Given the description of an element on the screen output the (x, y) to click on. 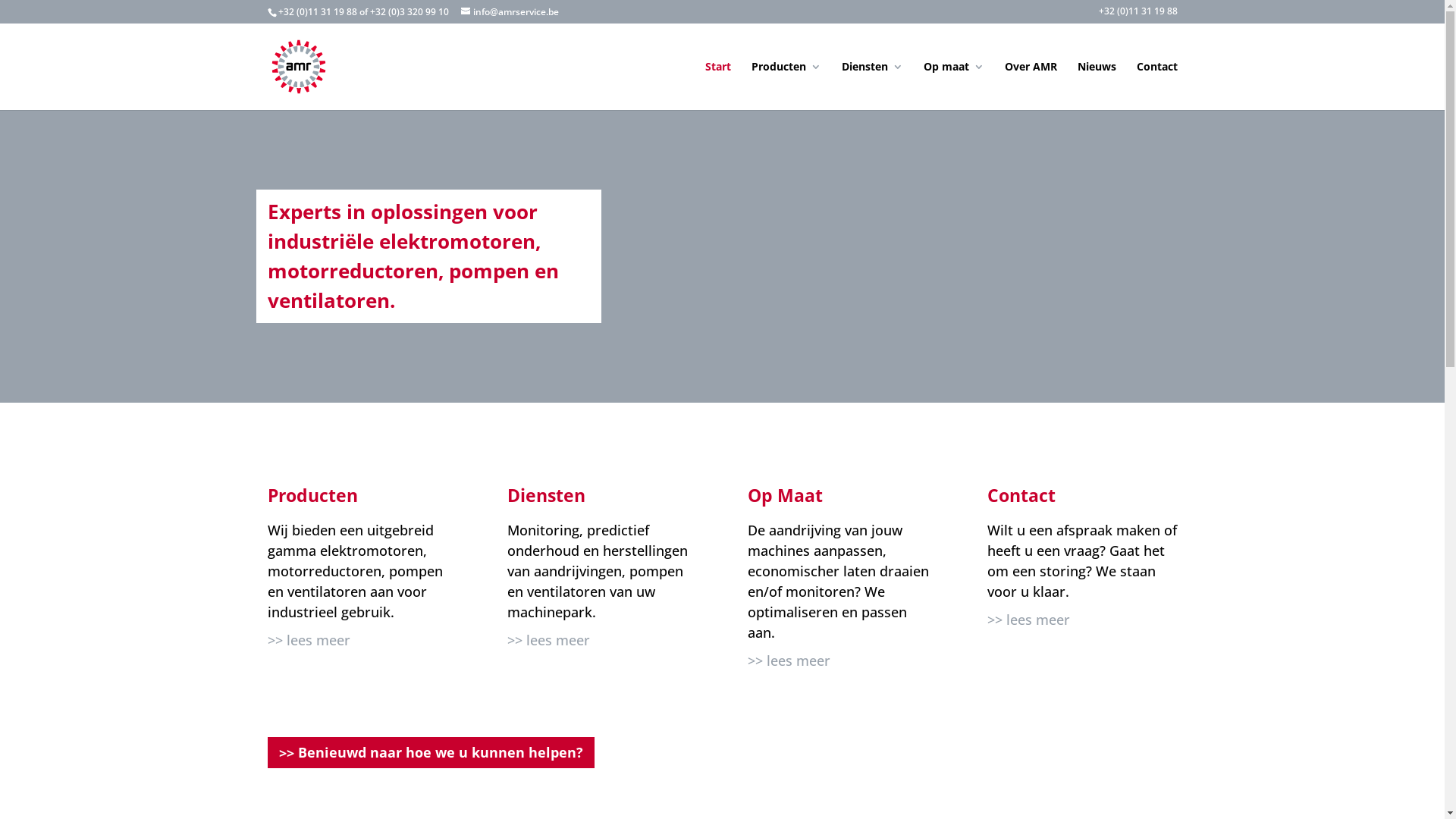
Over AMR Element type: text (1030, 85)
lees meer Element type: text (311, 639)
Start Element type: text (718, 85)
lees meer Element type: text (552, 639)
Diensten Element type: text (872, 85)
Producten Element type: text (785, 85)
Nieuws Element type: text (1095, 85)
Benieuwd naar hoe we u kunnen helpen? Element type: text (429, 752)
lees meer Element type: text (792, 660)
lees meer Element type: text (1032, 619)
eb.ecivresrma@ofni Element type: text (509, 11)
Contact Element type: text (1155, 85)
+32 (0)11 31 19 88 Element type: text (1137, 14)
Op maat Element type: text (953, 85)
